Given the description of an element on the screen output the (x, y) to click on. 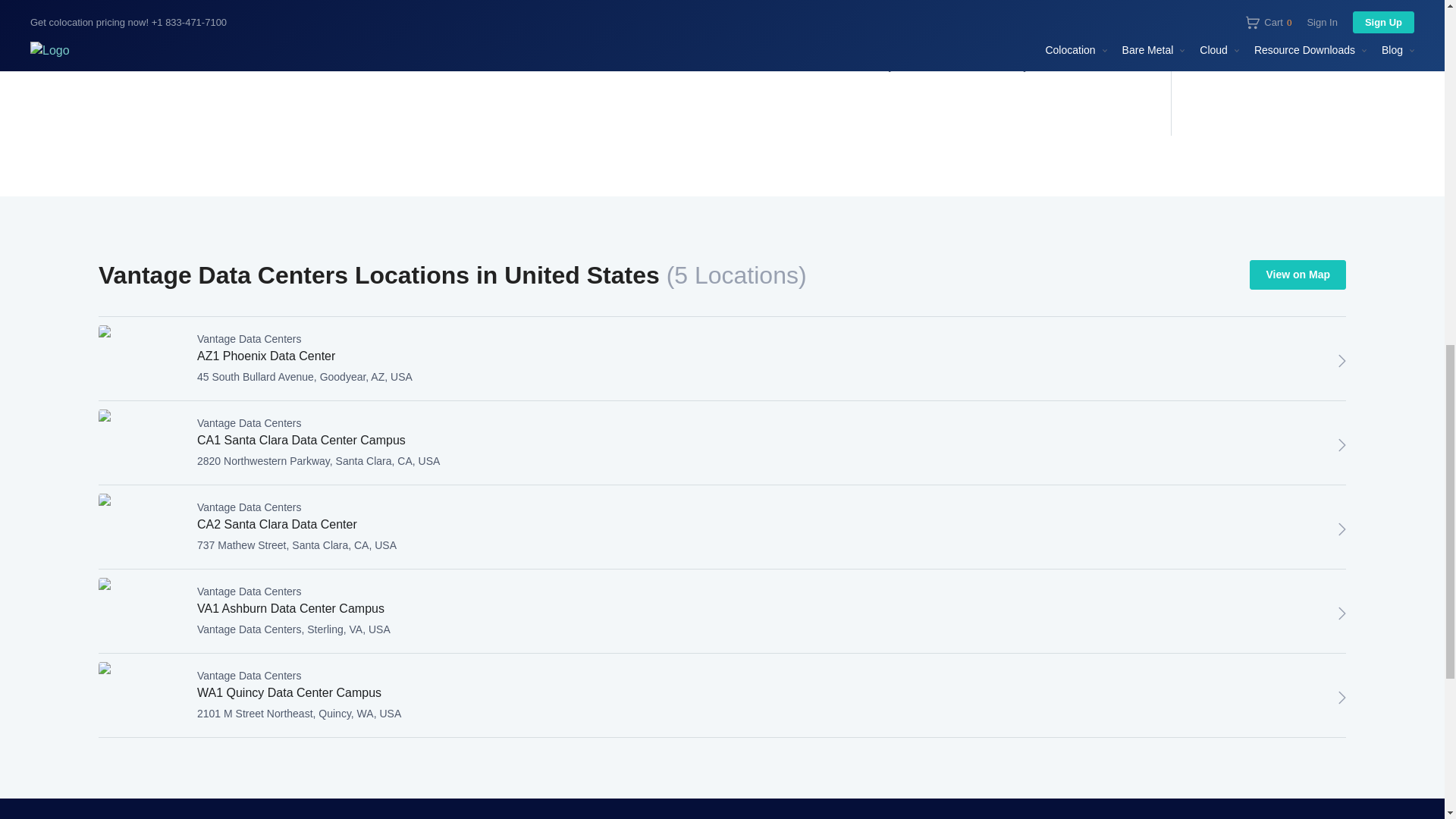
Chat (1342, 444)
Chat (1342, 361)
Chat (1342, 613)
Chat (1342, 529)
Chat (1342, 697)
